Given the description of an element on the screen output the (x, y) to click on. 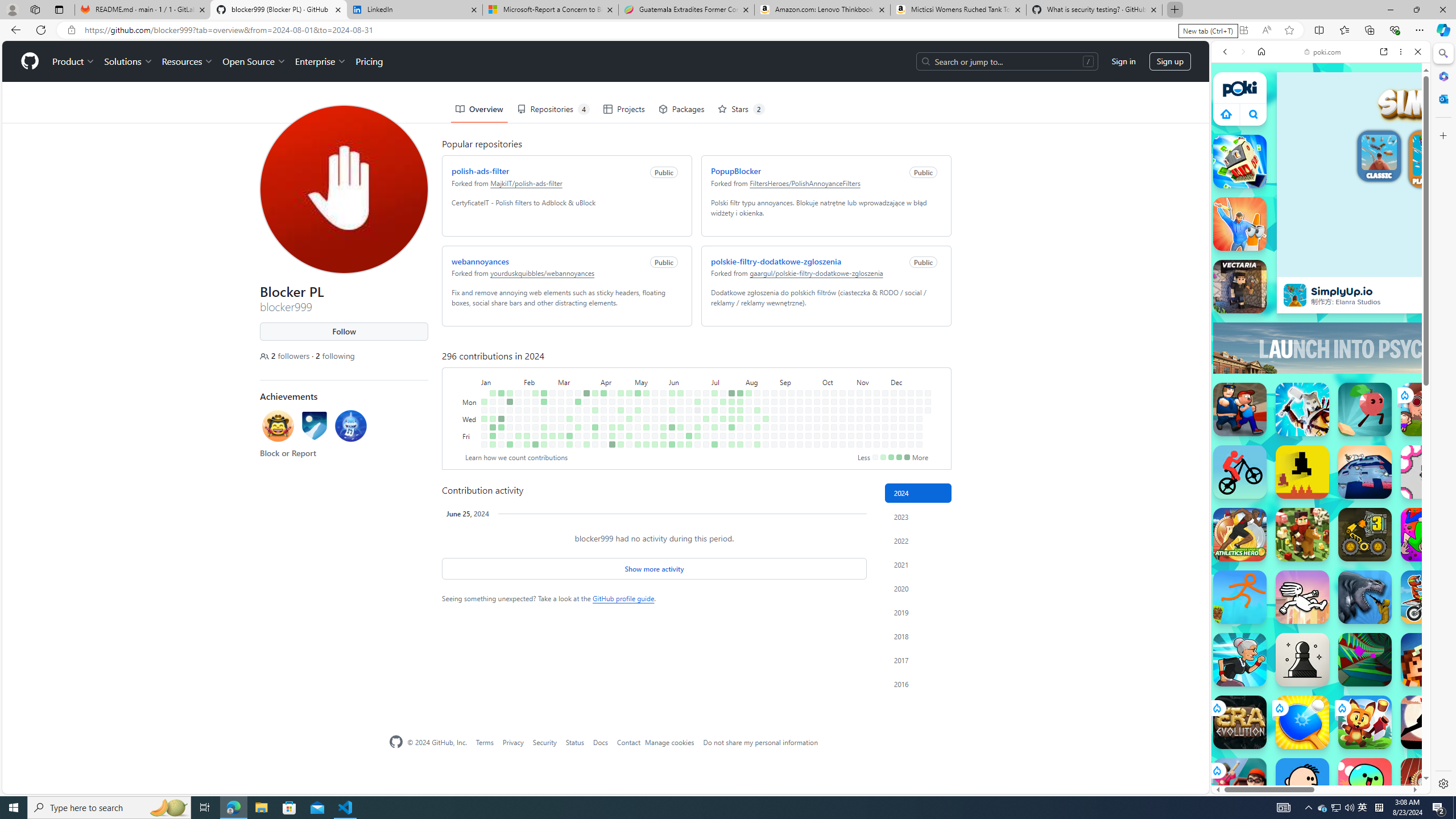
No contributions on December 2nd. (893, 401)
No contributions on February 14th. (535, 418)
Class: rounded img-fluid d-block w-100 fit-cover (1433, 155)
Product (74, 60)
No contributions on January 4th. (483, 427)
No contributions on September 16th. (799, 401)
No contributions on April 10th. (603, 418)
No contributions on September 29th. (816, 392)
No contributions on August 9th. (748, 435)
No contributions on December 14th. (902, 444)
Big Tower Tiny Square Big Tower Tiny Square (1364, 471)
Preferences (1403, 129)
2018 (917, 636)
Moto X3M Moto X3M (1427, 597)
